Given the description of an element on the screen output the (x, y) to click on. 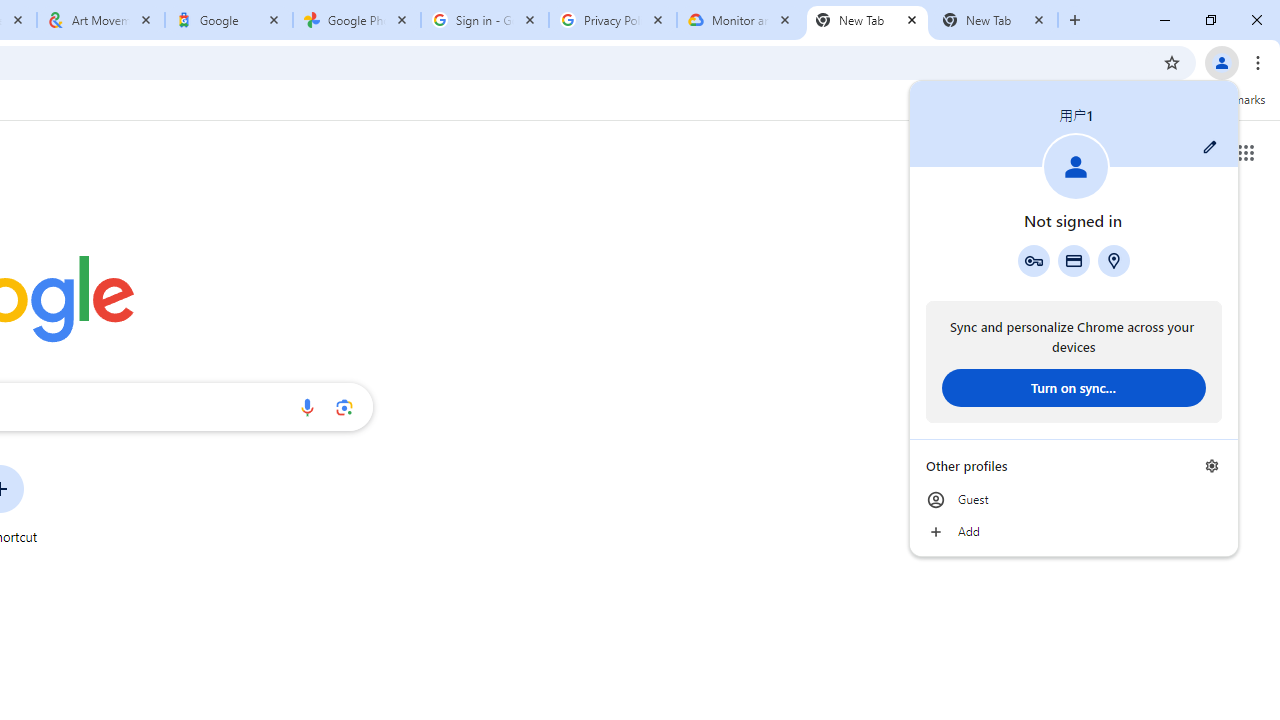
New Tab (994, 20)
Google (229, 20)
Manage profiles (1211, 465)
Sign in - Google Accounts (485, 20)
Customize profile (1210, 147)
